Given the description of an element on the screen output the (x, y) to click on. 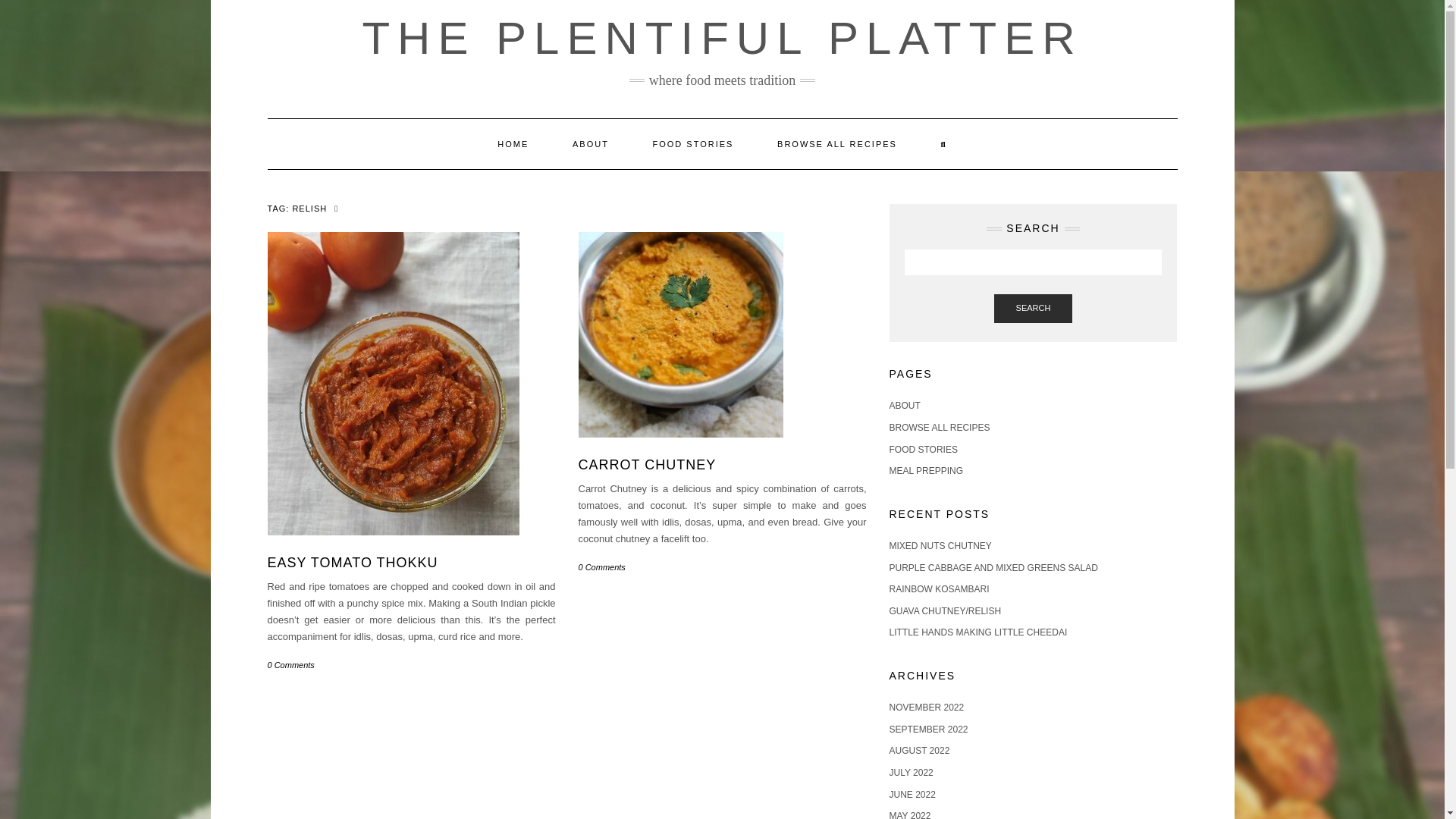
MAY 2022 (909, 814)
JULY 2022 (910, 772)
LITTLE HANDS MAKING LITTLE CHEEDAI (977, 632)
AUGUST 2022 (918, 750)
CARROT CHUTNEY (647, 464)
MEAL PREPPING (925, 470)
SEARCH (1033, 308)
CARROT CHUTNEY (647, 464)
NOVEMBER 2022 (925, 706)
FOOD STORIES (922, 449)
HOME (512, 143)
ABOUT (589, 143)
JUNE 2022 (911, 794)
PURPLE CABBAGE AND MIXED GREENS SALAD (992, 567)
EASY TOMATO THOKKU (352, 562)
